Given the description of an element on the screen output the (x, y) to click on. 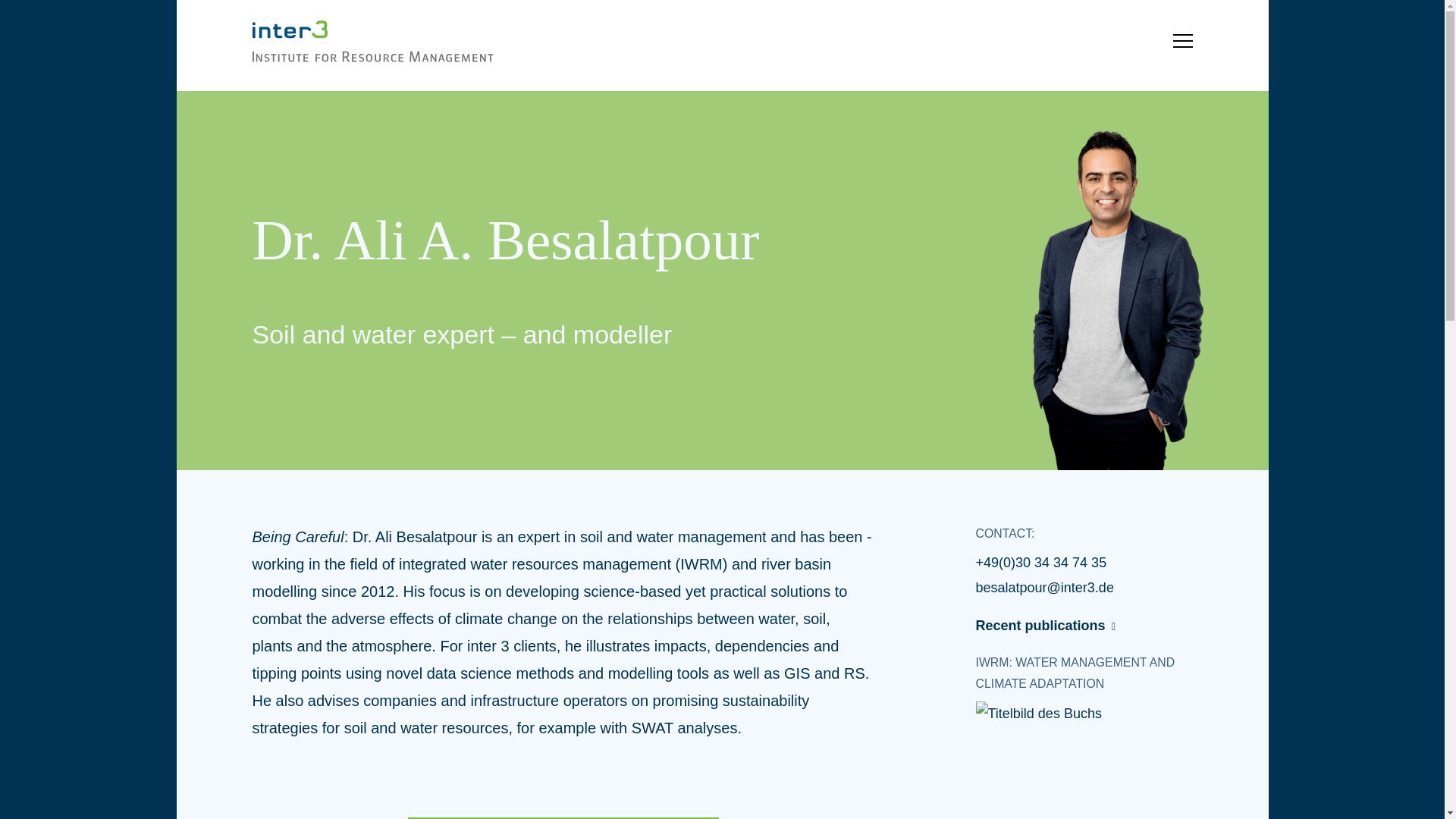
Services (858, 167)
Fostering implementation (908, 346)
About us (470, 167)
Contact (273, 512)
Analysing data (876, 311)
Disseminating results (897, 418)
Team (460, 239)
English (1170, 512)
German (1102, 512)
Team (460, 239)
